Given the description of an element on the screen output the (x, y) to click on. 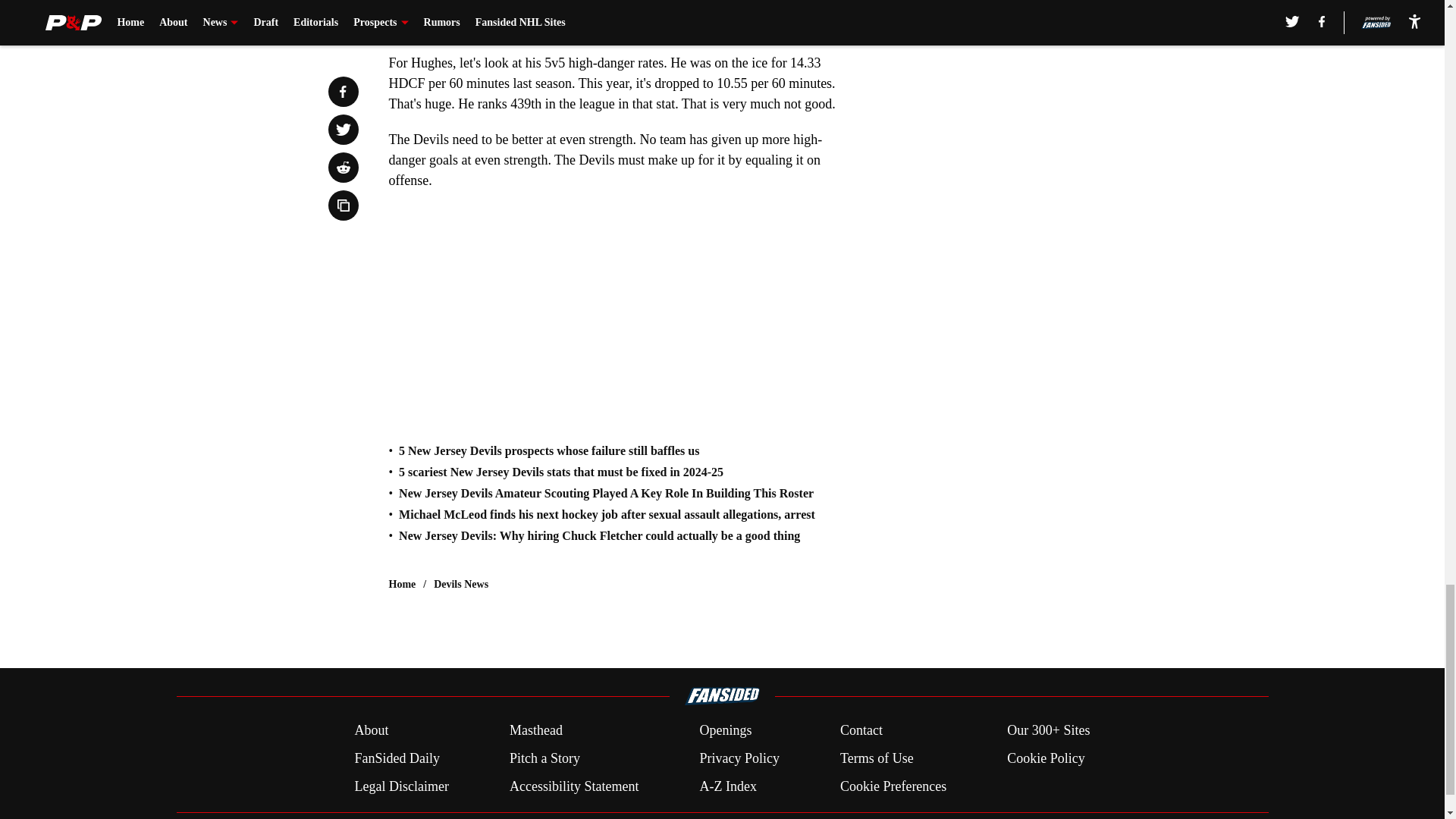
Openings (724, 730)
About (370, 730)
FanSided Daily (396, 758)
5 New Jersey Devils prospects whose failure still baffles us (548, 450)
Home (401, 584)
Devils News (460, 584)
Contact (861, 730)
Masthead (535, 730)
